Given the description of an element on the screen output the (x, y) to click on. 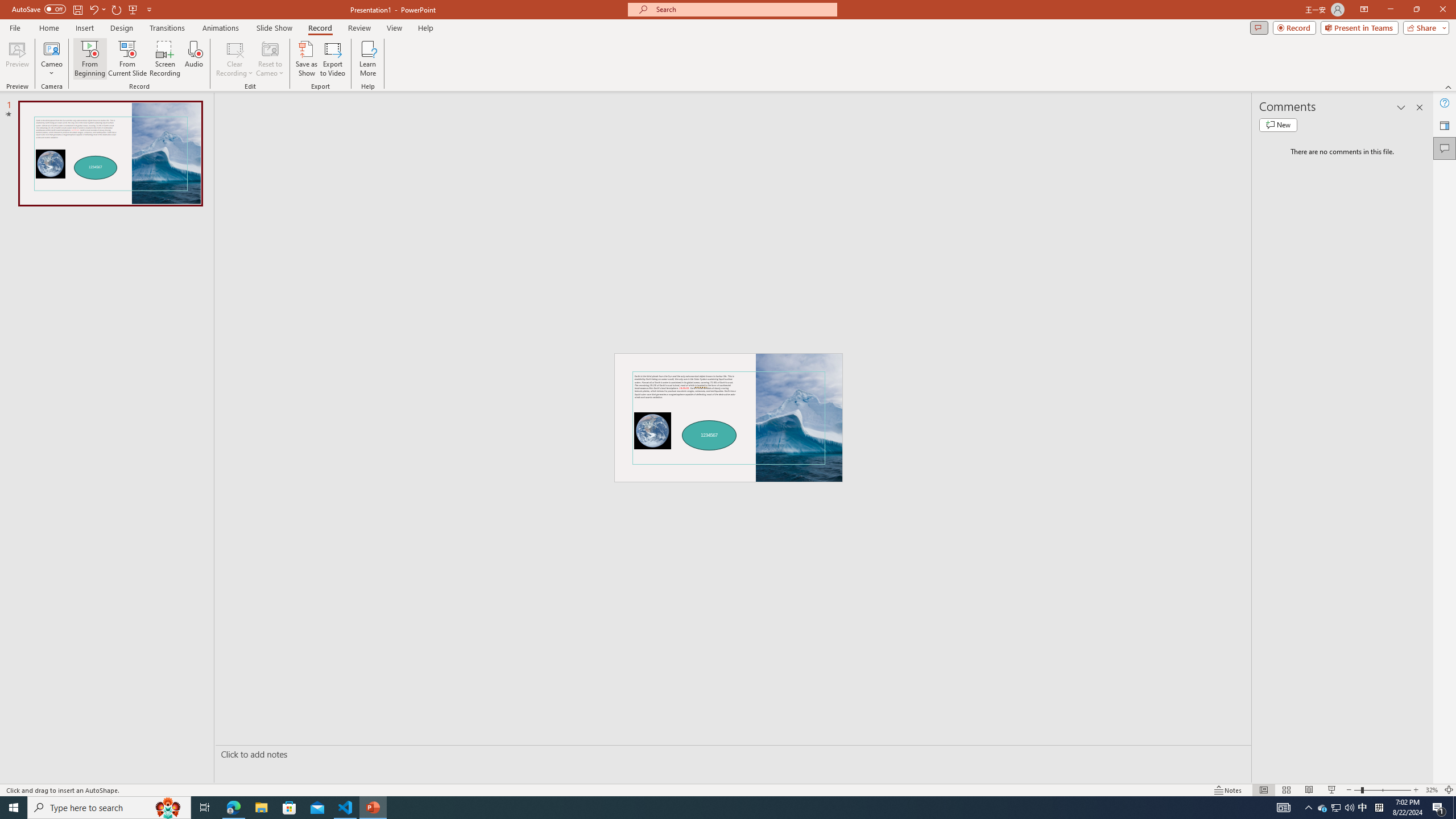
Learn More (368, 58)
